Given the description of an element on the screen output the (x, y) to click on. 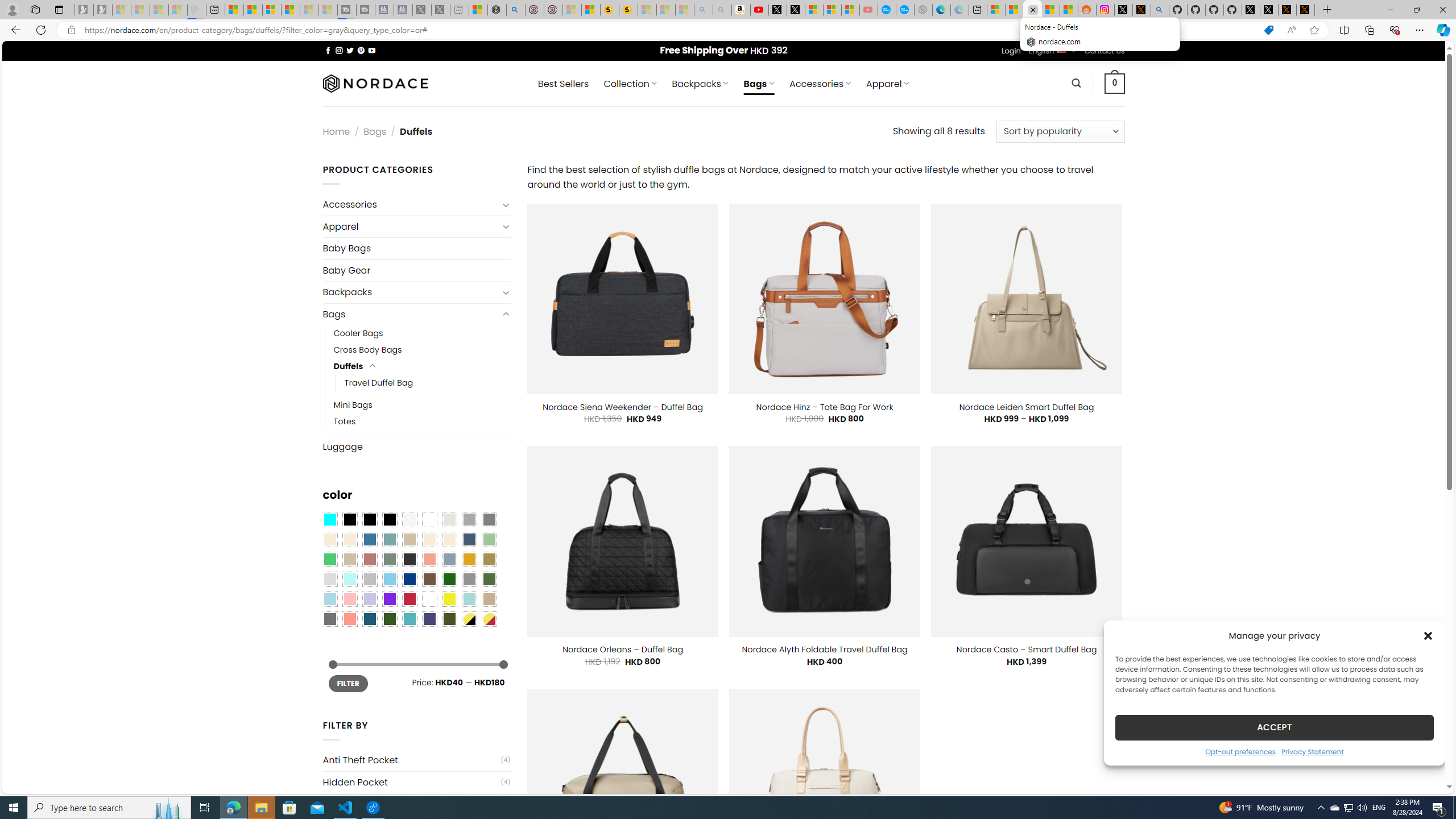
Light Taupe (349, 559)
Brown (429, 579)
Baby Gear (416, 269)
Sage (389, 559)
Laptop Sleeve (410, 804)
Gold (468, 559)
Nordace Leiden Smart Duffel Bag (1026, 406)
